Given the description of an element on the screen output the (x, y) to click on. 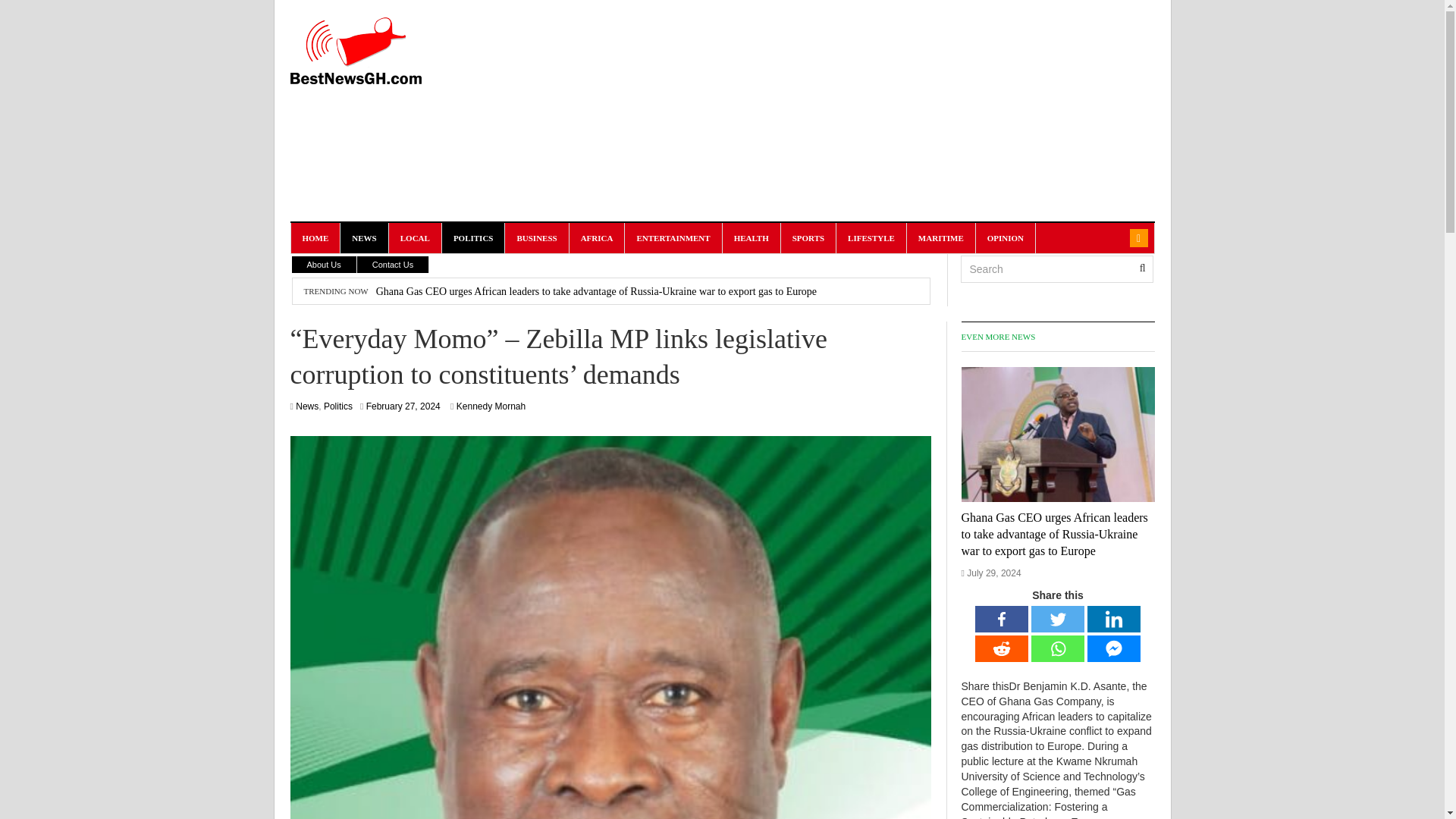
ENTERTAINMENT (673, 237)
Advertisement (878, 160)
HOME (315, 237)
Twitter (1057, 619)
Kennedy Mornah (491, 406)
POLITICS (473, 237)
About Us (323, 264)
OPINION (1005, 237)
News (306, 406)
HEALTH (751, 237)
LOCAL (415, 237)
MARITIME (941, 237)
BUSINESS (537, 237)
February 27, 2024 (403, 406)
